Given the description of an element on the screen output the (x, y) to click on. 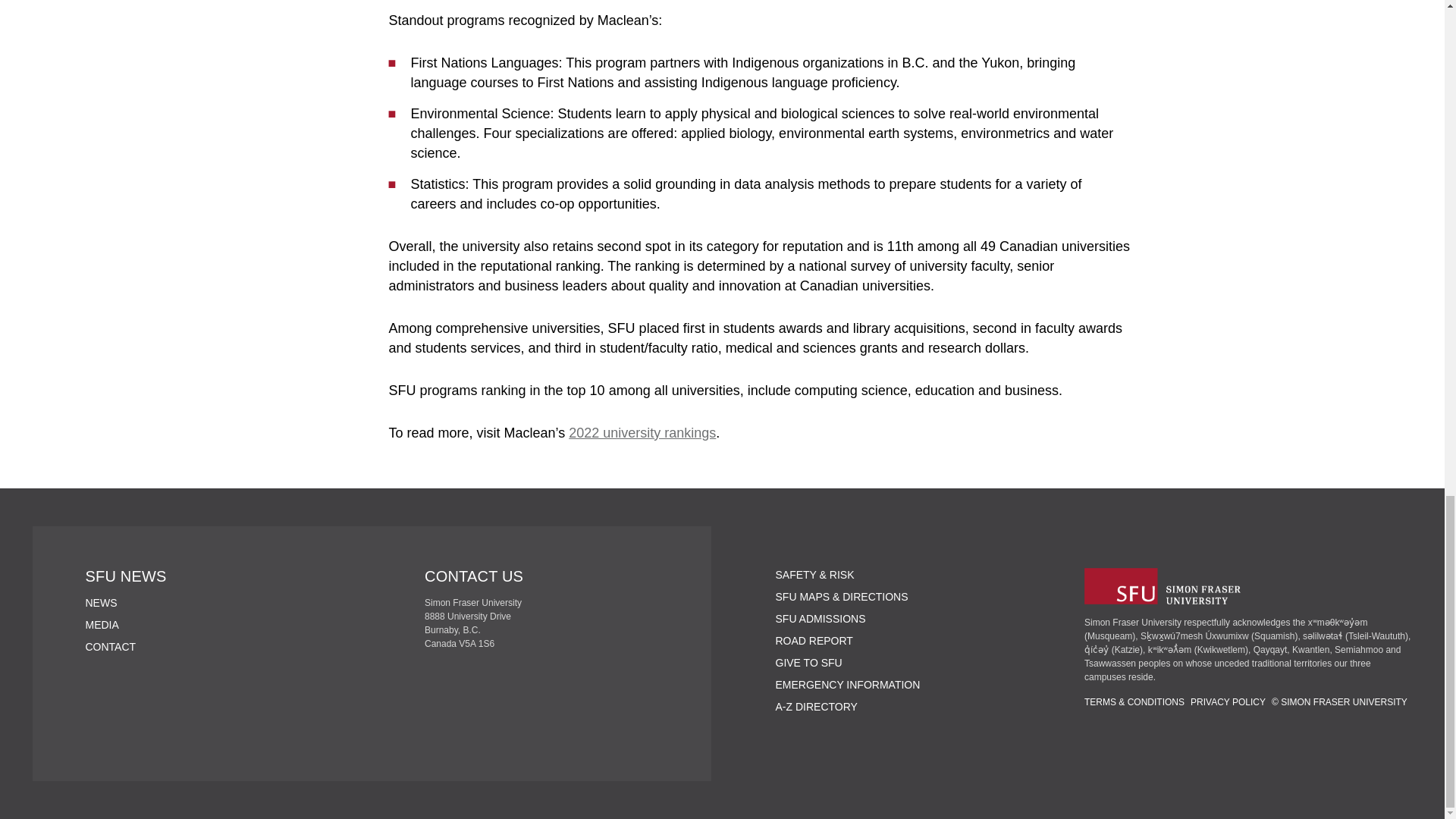
2022 university rankings (642, 432)
MEDIA (100, 624)
NEWS (100, 603)
CONTACT (109, 646)
